Given the description of an element on the screen output the (x, y) to click on. 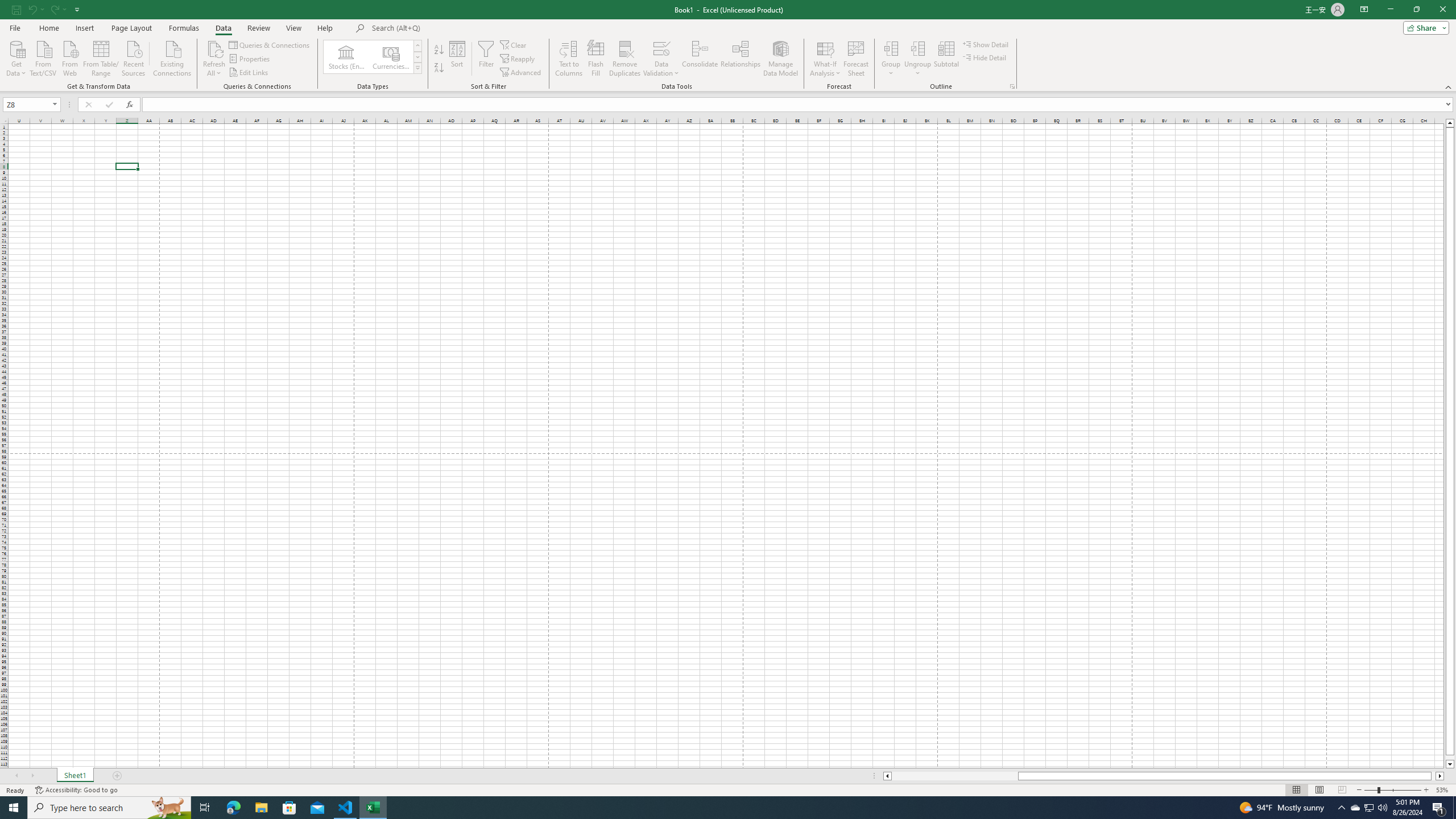
Subtotal (946, 58)
Sort Z to A (438, 67)
Sort A to Z (438, 49)
From Text/CSV (43, 57)
Forecast Sheet (856, 58)
Edit Links (249, 72)
Stocks (English) (346, 56)
Filter (485, 58)
Page left (954, 775)
